Given the description of an element on the screen output the (x, y) to click on. 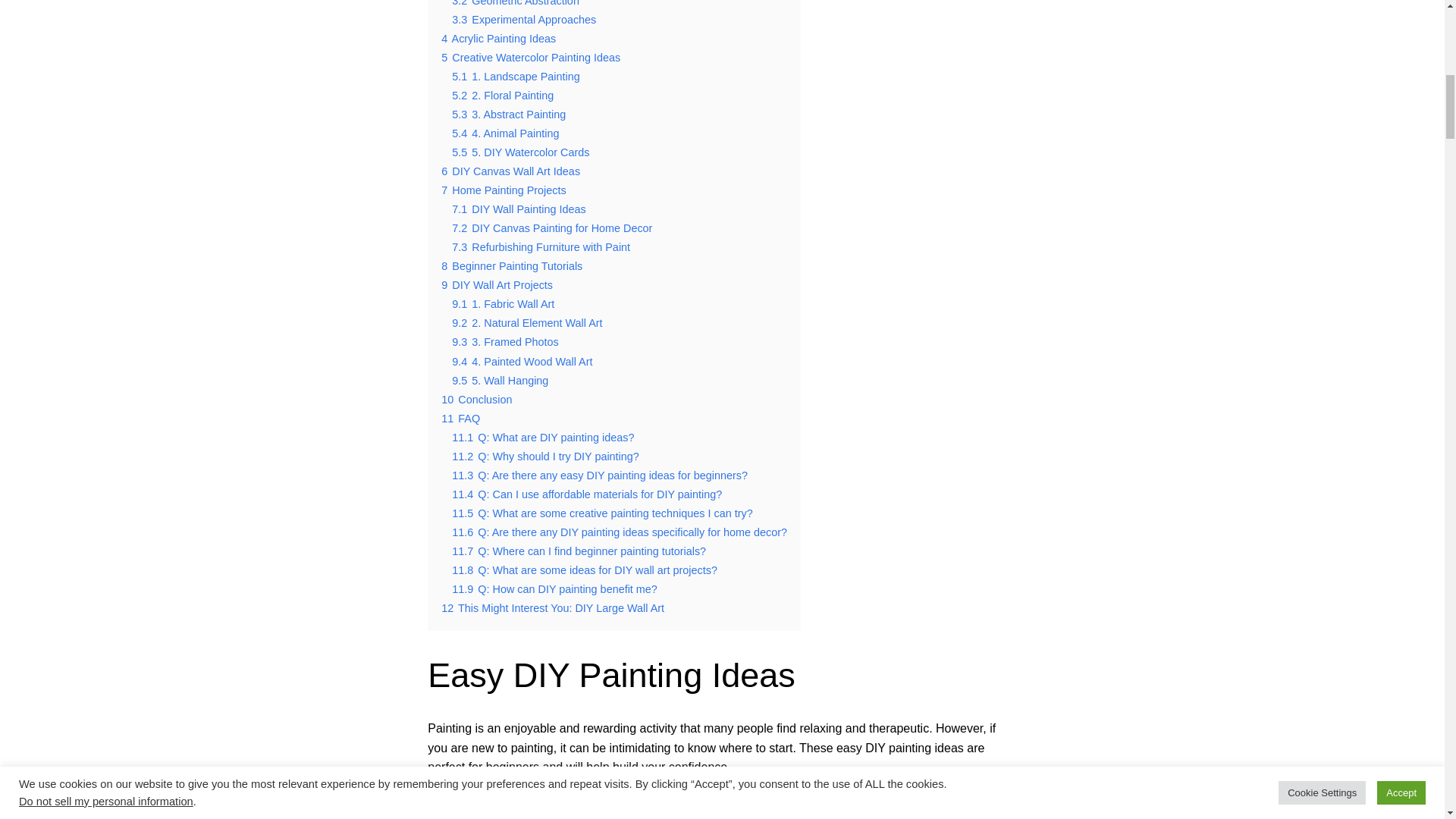
3.2 Geometric Abstraction (515, 3)
